Given the description of an element on the screen output the (x, y) to click on. 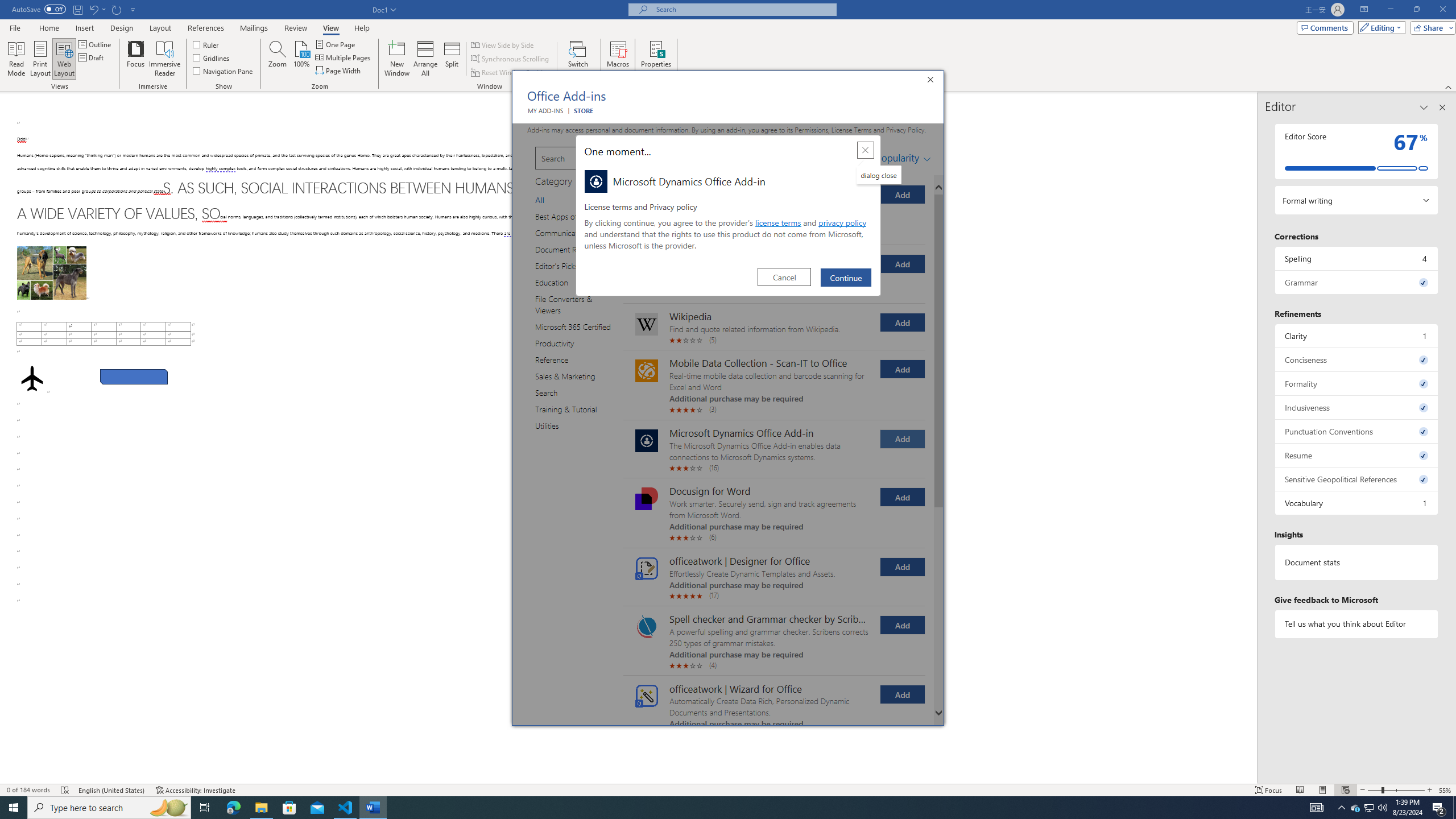
Arrange All (425, 58)
Formality, 0 issues. Press space or enter to review items. (1356, 383)
Undo Paragraph Alignment (92, 9)
Word Count 0 of 184 words (28, 790)
STORE (582, 110)
Gridlines (211, 56)
Split (451, 58)
Repeat Paragraph Alignment (117, 9)
100% (301, 58)
Running applications (717, 807)
